Given the description of an element on the screen output the (x, y) to click on. 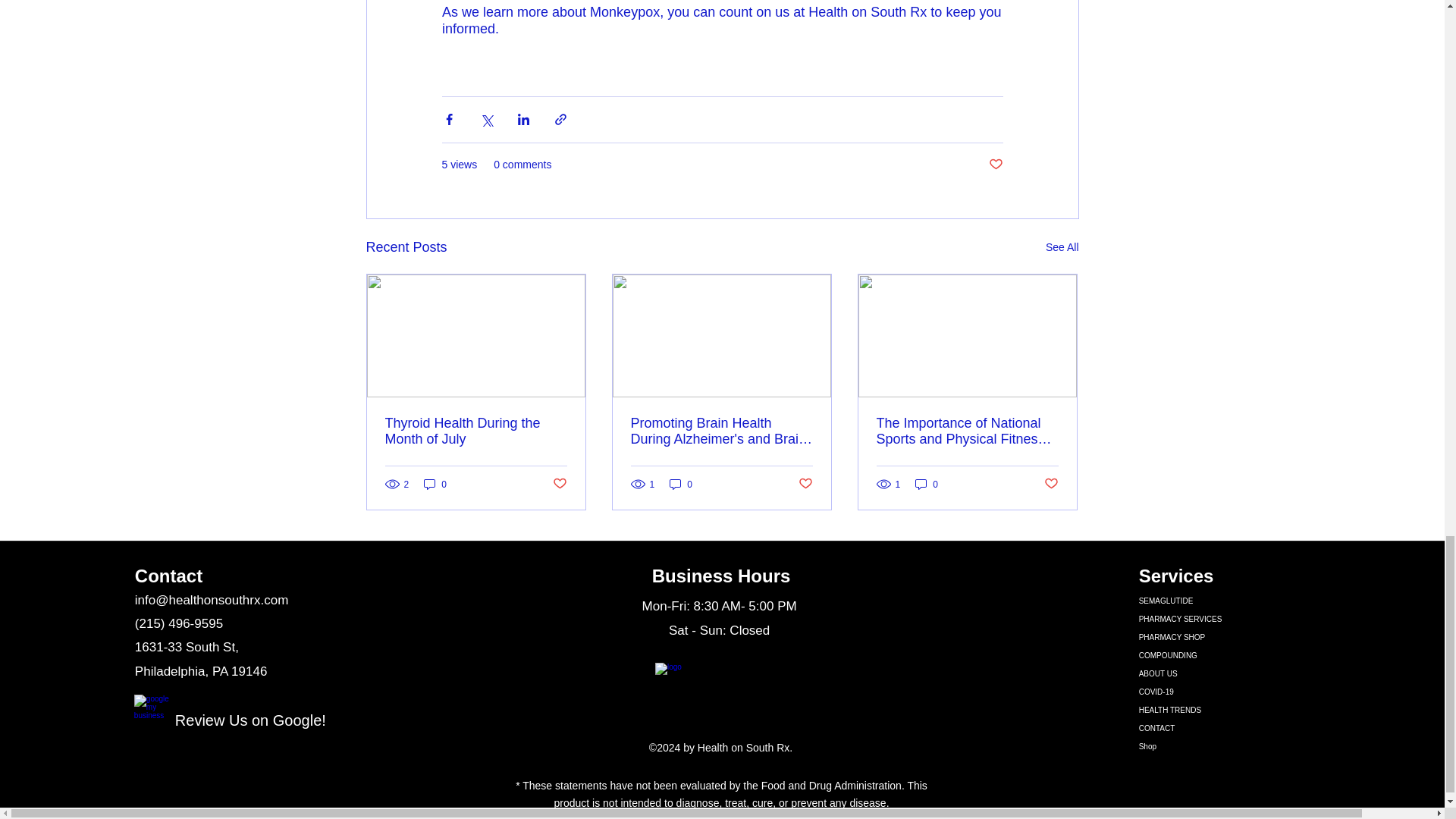
Thyroid Health During the Month of July (476, 431)
Post not marked as liked (995, 163)
0 (681, 483)
Post not marked as liked (558, 483)
See All (1061, 247)
0 (435, 483)
Post not marked as liked (804, 483)
